Given the description of an element on the screen output the (x, y) to click on. 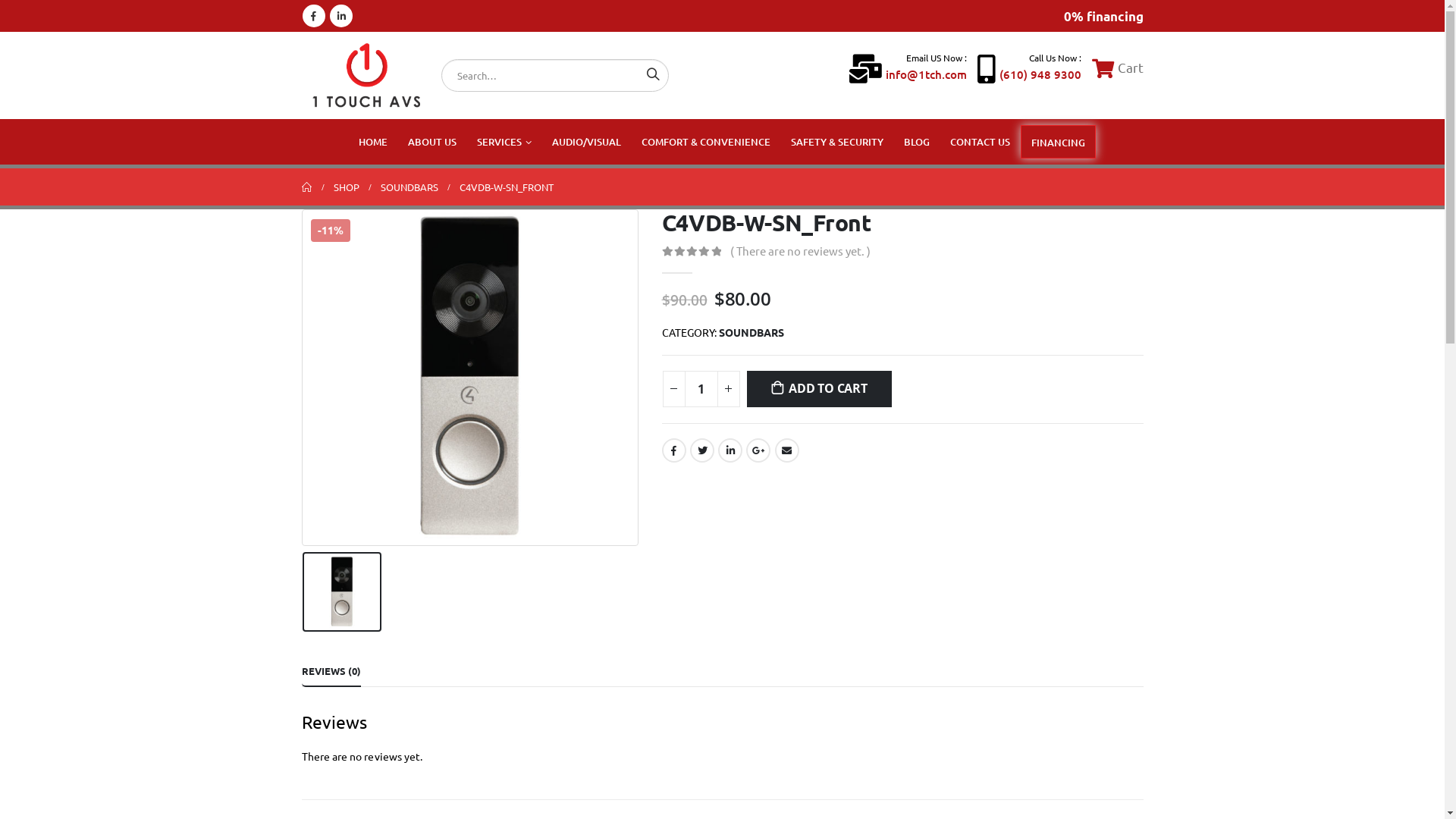
SERVICES Element type: text (504, 140)
Cart Element type: text (1117, 67)
Go to Home Page Element type: hover (306, 186)
SOUNDBARS Element type: text (409, 186)
Search Element type: hover (652, 72)
COMFORT & CONVENIENCE Element type: text (705, 140)
AUDIO/VISUAL Element type: text (586, 140)
0% financing Element type: text (1102, 15)
+ Element type: text (728, 388)
1 TOUCH AVS -  Element type: hover (365, 75)
Twitter Element type: text (702, 450)
Email US Now :
info@1tch.com Element type: text (907, 67)
- Element type: text (673, 388)
Google + Element type: text (758, 450)
HOME Element type: text (372, 140)
Email Element type: text (787, 450)
LinkedIn Element type: text (730, 450)
CONTACT US Element type: text (979, 140)
FINANCING Element type: text (1058, 141)
Call Us Now :
(610) 948 9300 Element type: text (1028, 67)
LinkedIn Element type: hover (340, 15)
ABOUT US Element type: text (432, 140)
Facebook Element type: text (673, 450)
SHOP Element type: text (346, 186)
Qty Element type: hover (700, 388)
Facebook Element type: hover (312, 15)
SAFETY & SECURITY Element type: text (837, 140)
( There are no reviews yet. ) Element type: text (804, 250)
7 Element type: hover (469, 377)
SOUNDBARS Element type: text (751, 332)
ADD TO CART Element type: text (818, 388)
BLOG Element type: text (916, 140)
